Given the description of an element on the screen output the (x, y) to click on. 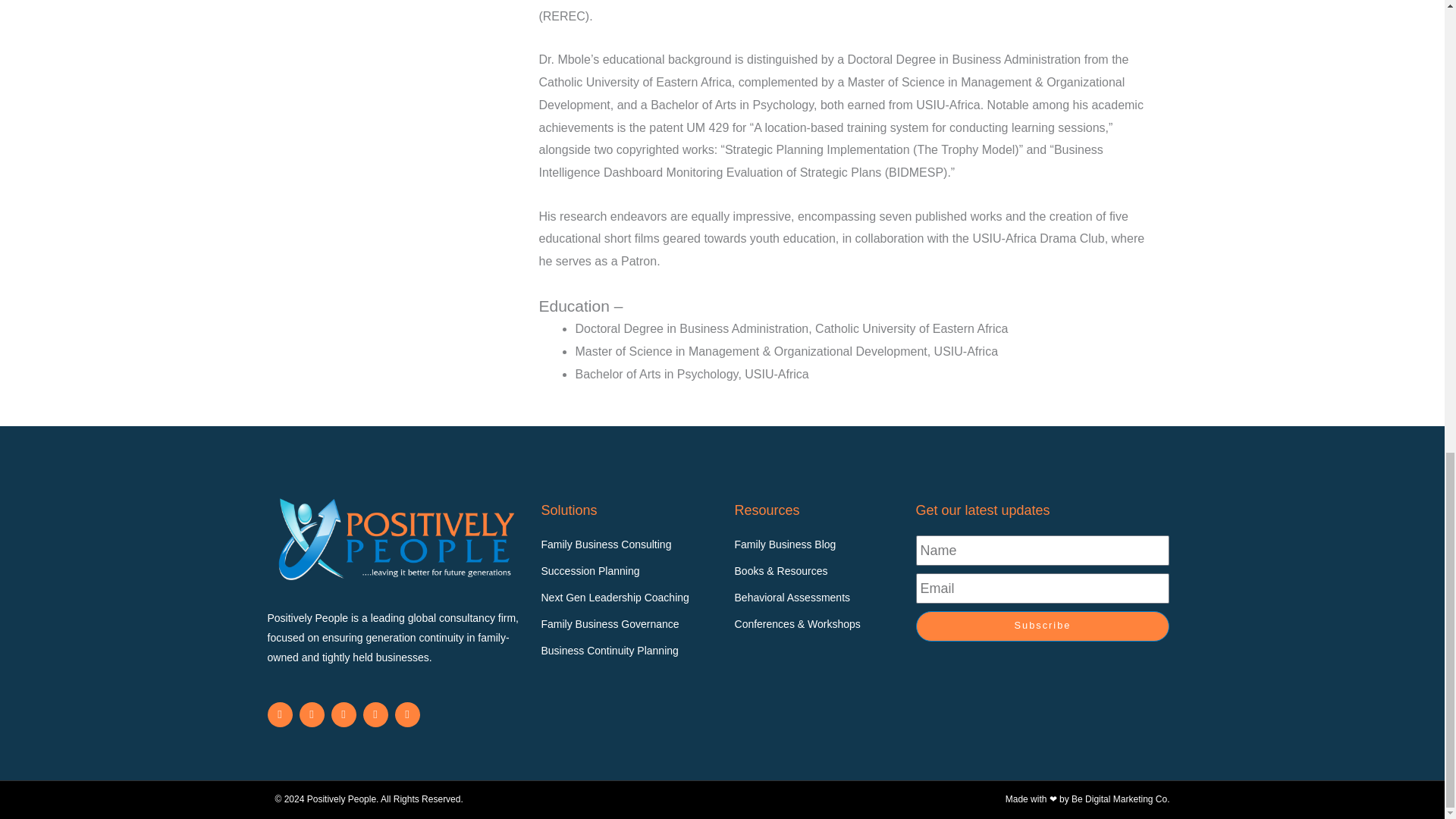
Family Business Consulting (629, 545)
Youtube (342, 714)
Rss (374, 714)
Linkedin (279, 714)
Google (406, 714)
Next Gen Leadership Coaching (629, 598)
Facebook-f (310, 714)
Succession Planning (629, 571)
